Given the description of an element on the screen output the (x, y) to click on. 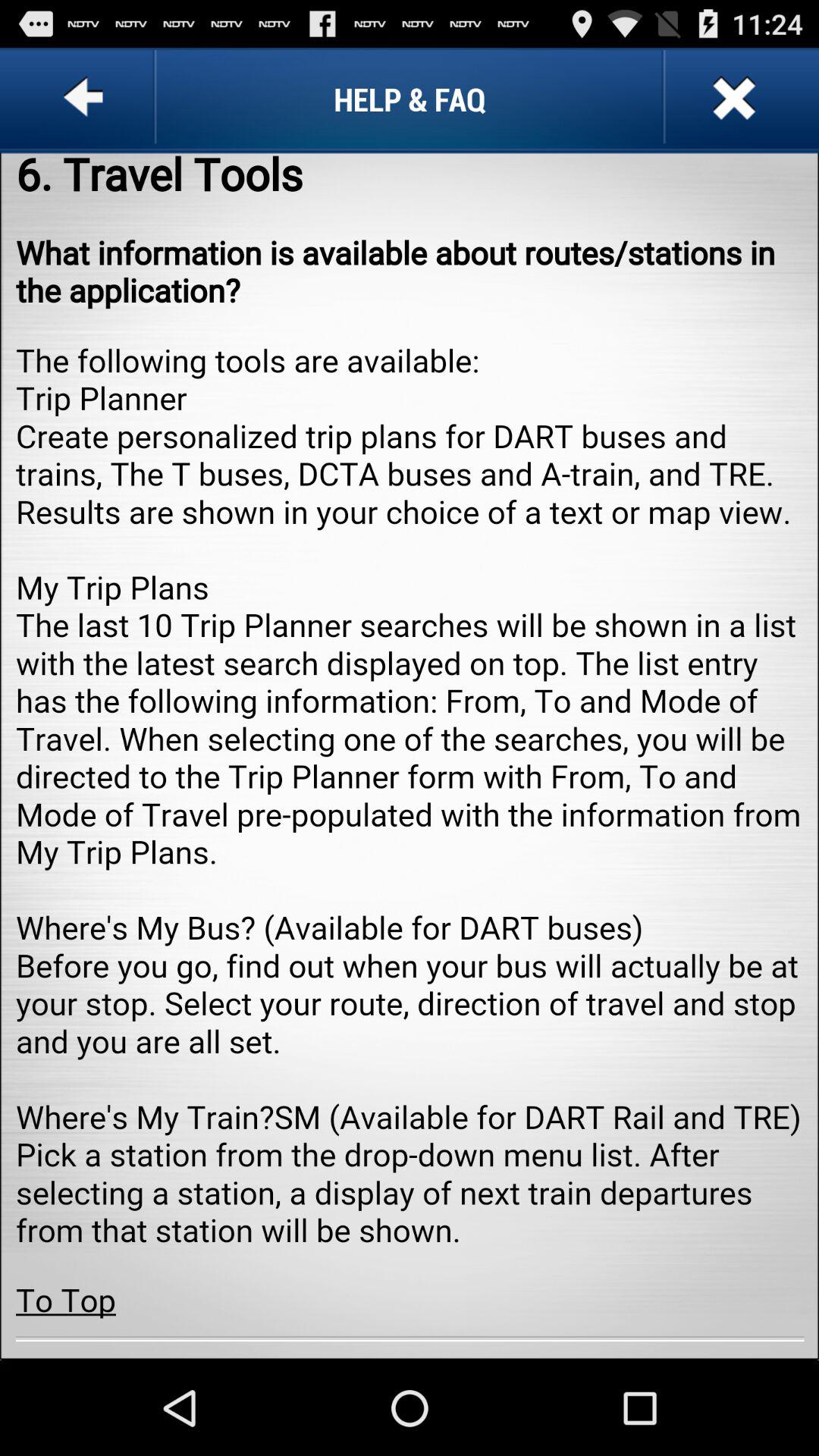
close the tab (732, 99)
